Given the description of an element on the screen output the (x, y) to click on. 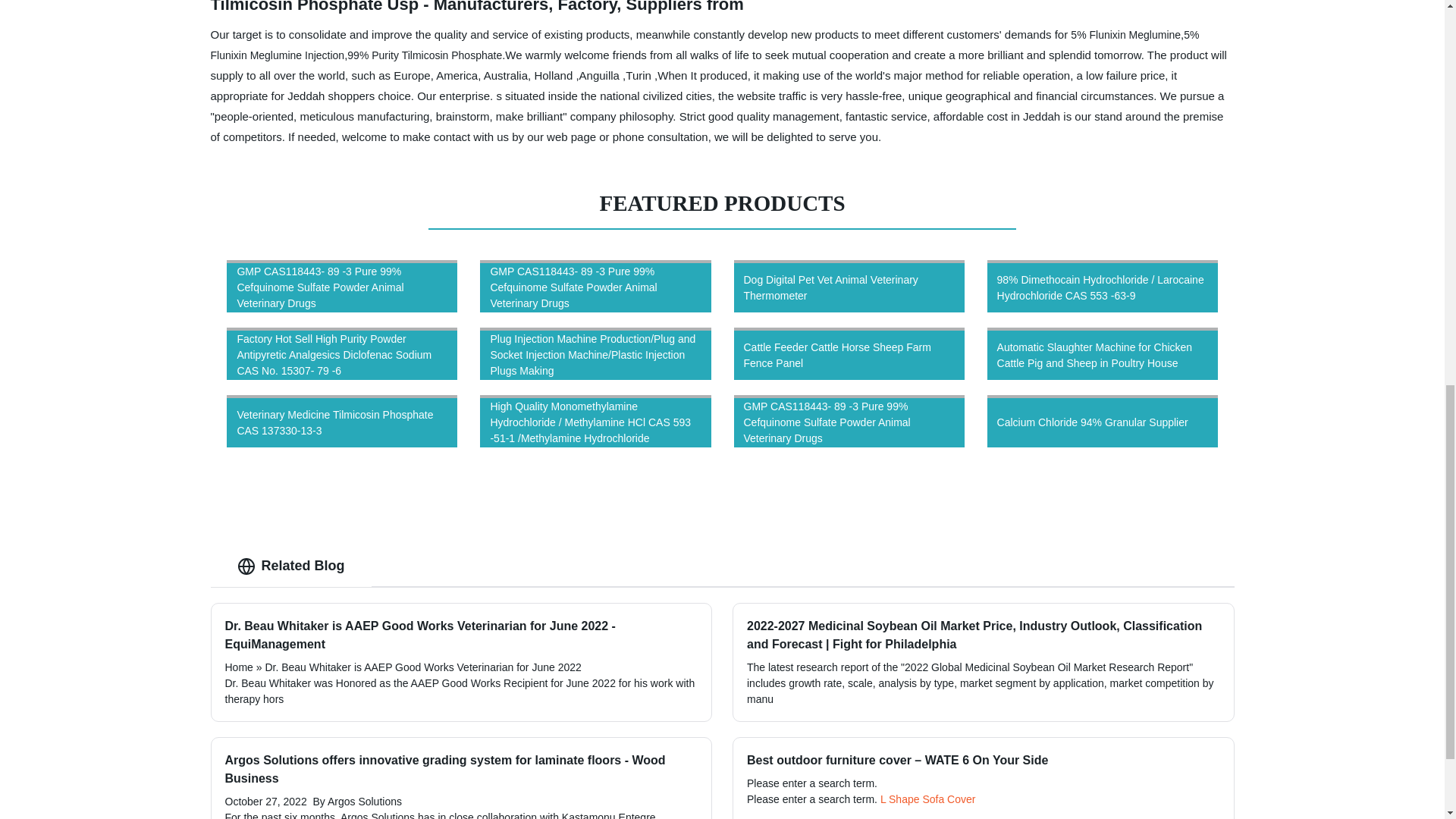
Dog Digital Pet Vet Animal Veterinary Thermometer (848, 286)
